Given the description of an element on the screen output the (x, y) to click on. 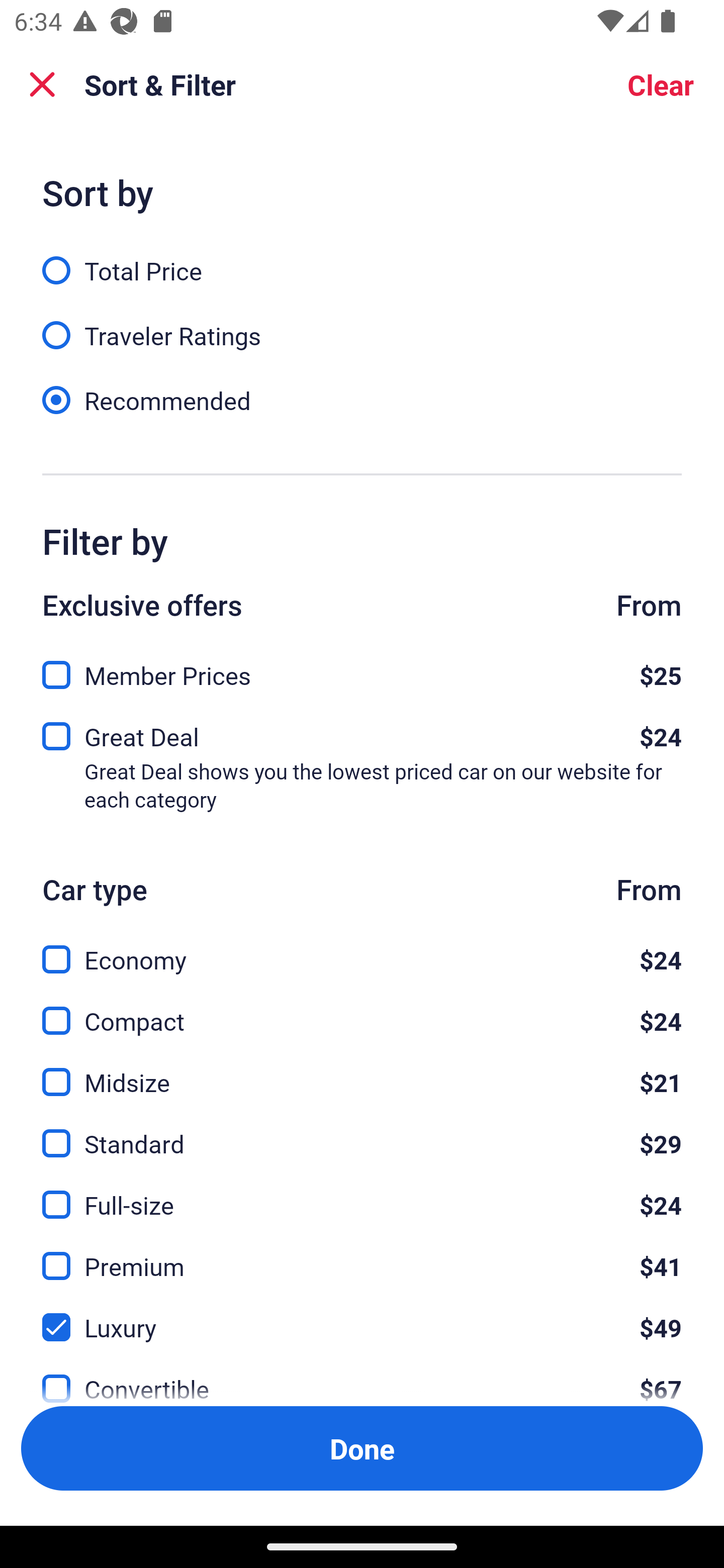
Close Sort and Filter (42, 84)
Clear (660, 84)
Total Price (361, 259)
Traveler Ratings (361, 324)
Member Prices, $25 Member Prices $25 (361, 669)
Economy, $24 Economy $24 (361, 947)
Compact, $24 Compact $24 (361, 1008)
Midsize, $21 Midsize $21 (361, 1070)
Standard, $29 Standard $29 (361, 1132)
Full-size, $24 Full-size $24 (361, 1193)
Premium, $41 Premium $41 (361, 1254)
Luxury, $49 Luxury $49 (361, 1315)
Convertible, $67 Convertible $67 (361, 1376)
Apply and close Sort and Filter Done (361, 1448)
